Given the description of an element on the screen output the (x, y) to click on. 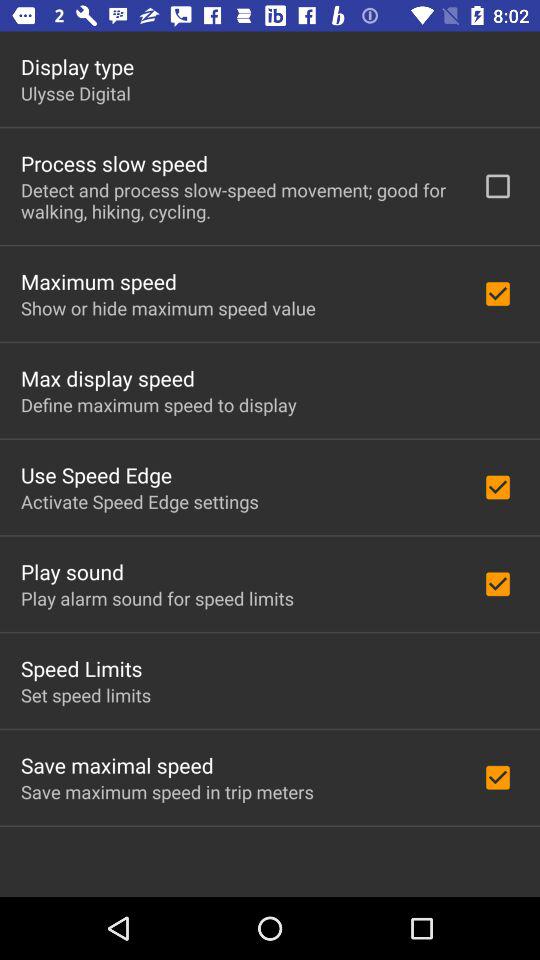
click the item above max display speed icon (168, 307)
